Given the description of an element on the screen output the (x, y) to click on. 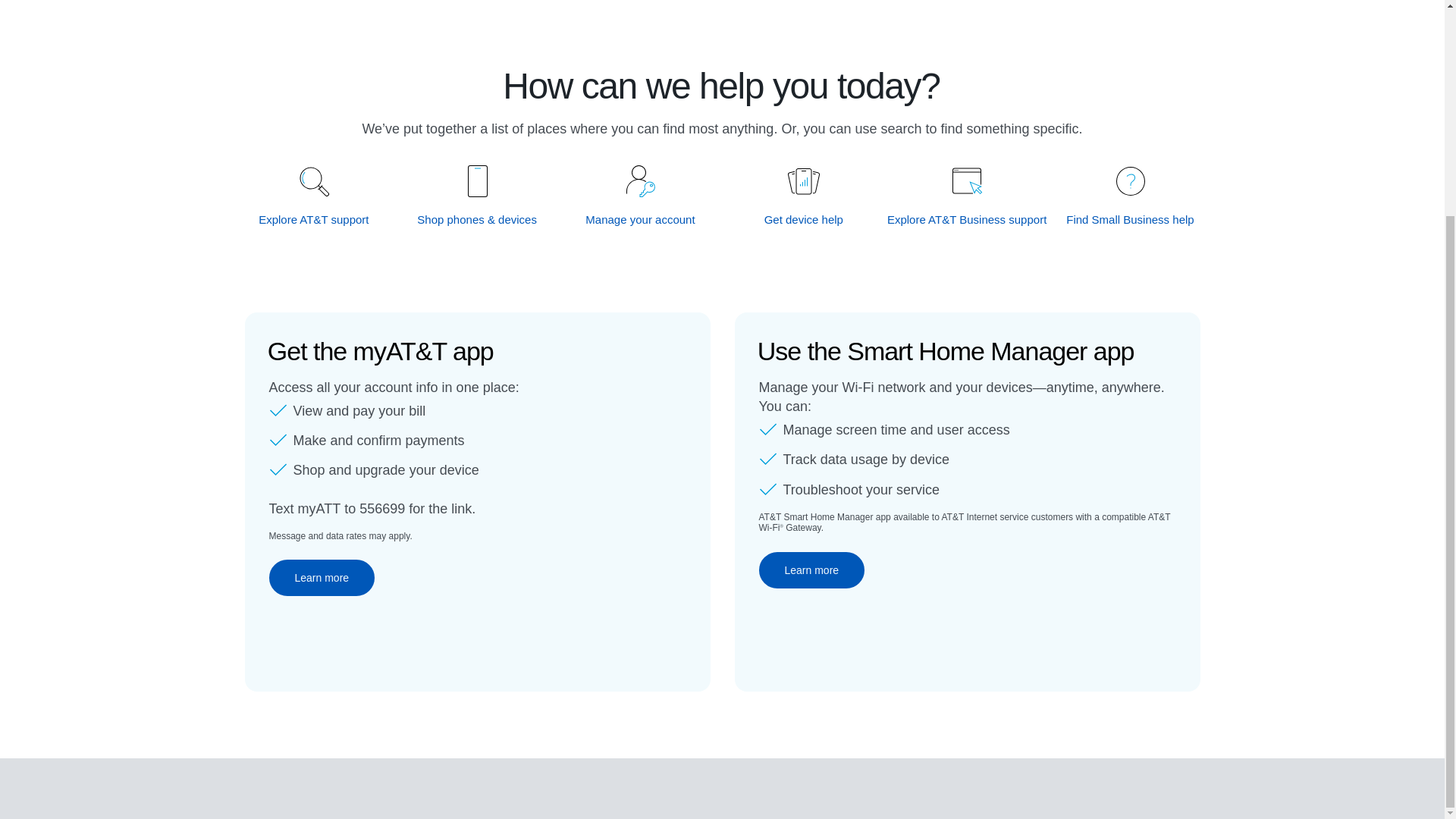
Get device help (803, 219)
Learn more (320, 577)
Manage your account (640, 219)
Learn more (811, 570)
Find Small Business help (1130, 219)
